Given the description of an element on the screen output the (x, y) to click on. 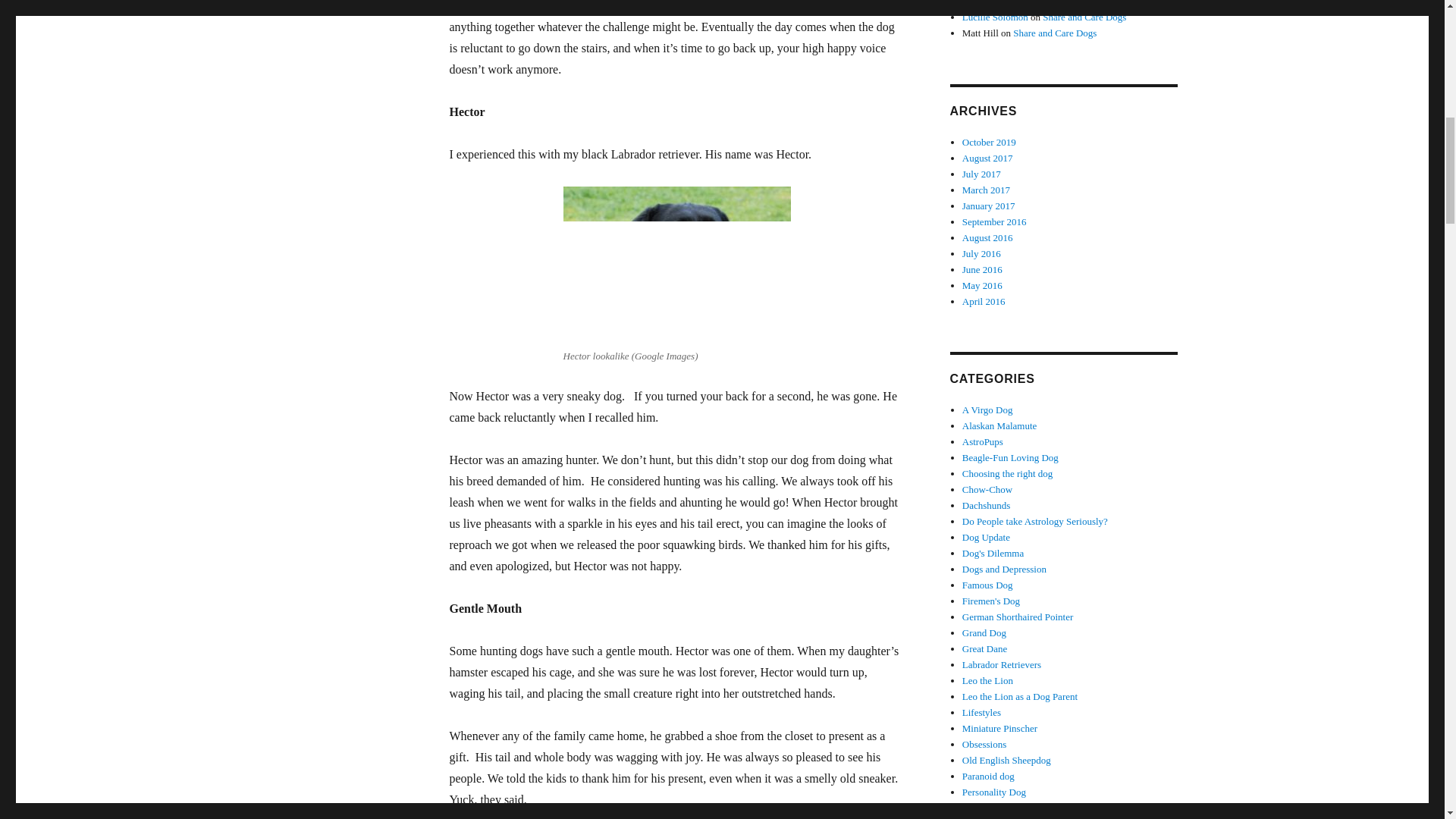
Share and Care Dogs (1055, 3)
Elizabeth (980, 3)
